Given the description of an element on the screen output the (x, y) to click on. 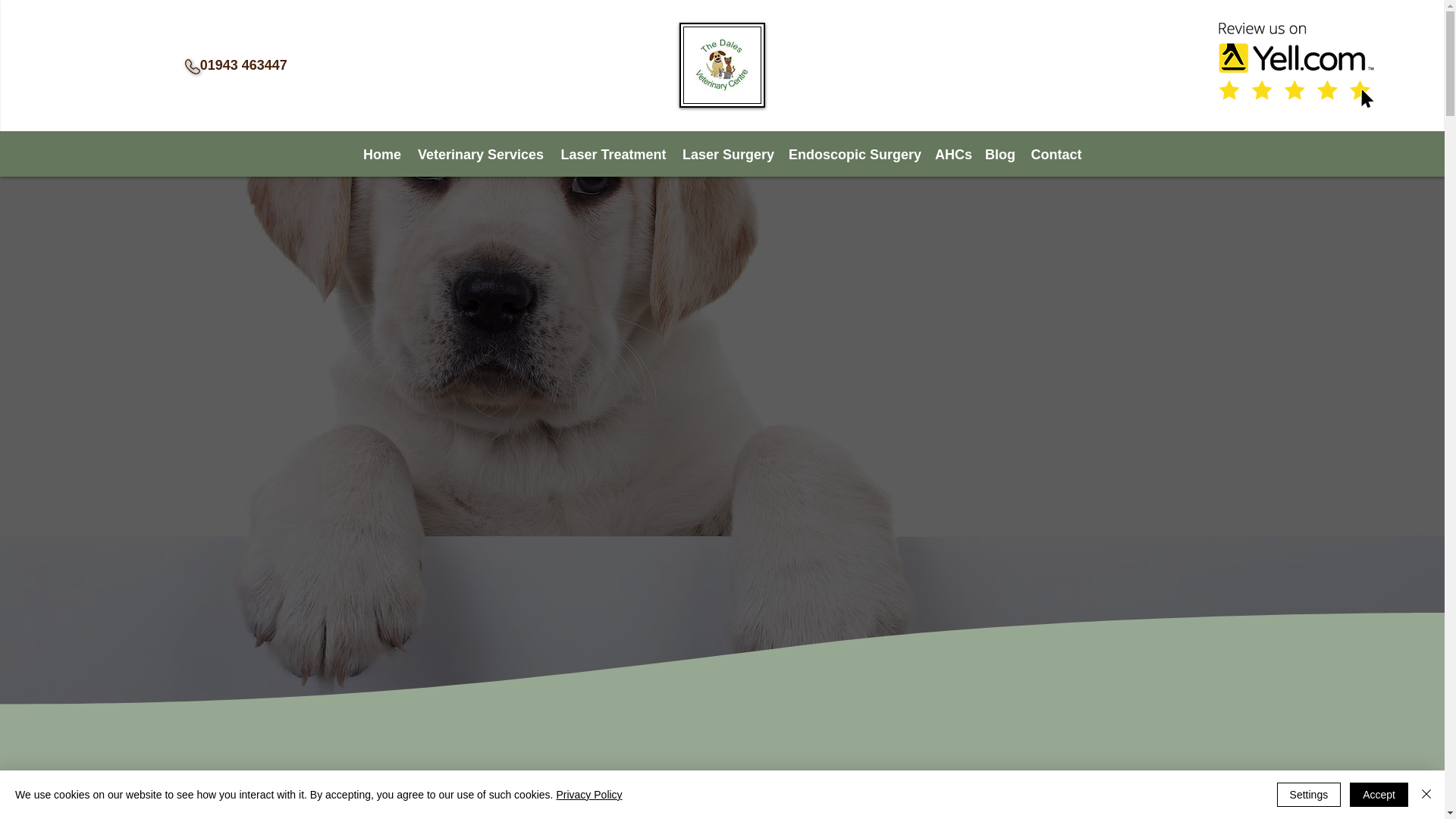
Settings (1308, 794)
Laser Treatment (613, 153)
Privacy Policy (588, 794)
Laser Surgery (727, 153)
Blog (999, 153)
Accept (1378, 794)
AHCs (951, 153)
Endoscopic Surgery (853, 153)
Veterinary Services (480, 153)
Home (382, 153)
Contact (1056, 153)
